Given the description of an element on the screen output the (x, y) to click on. 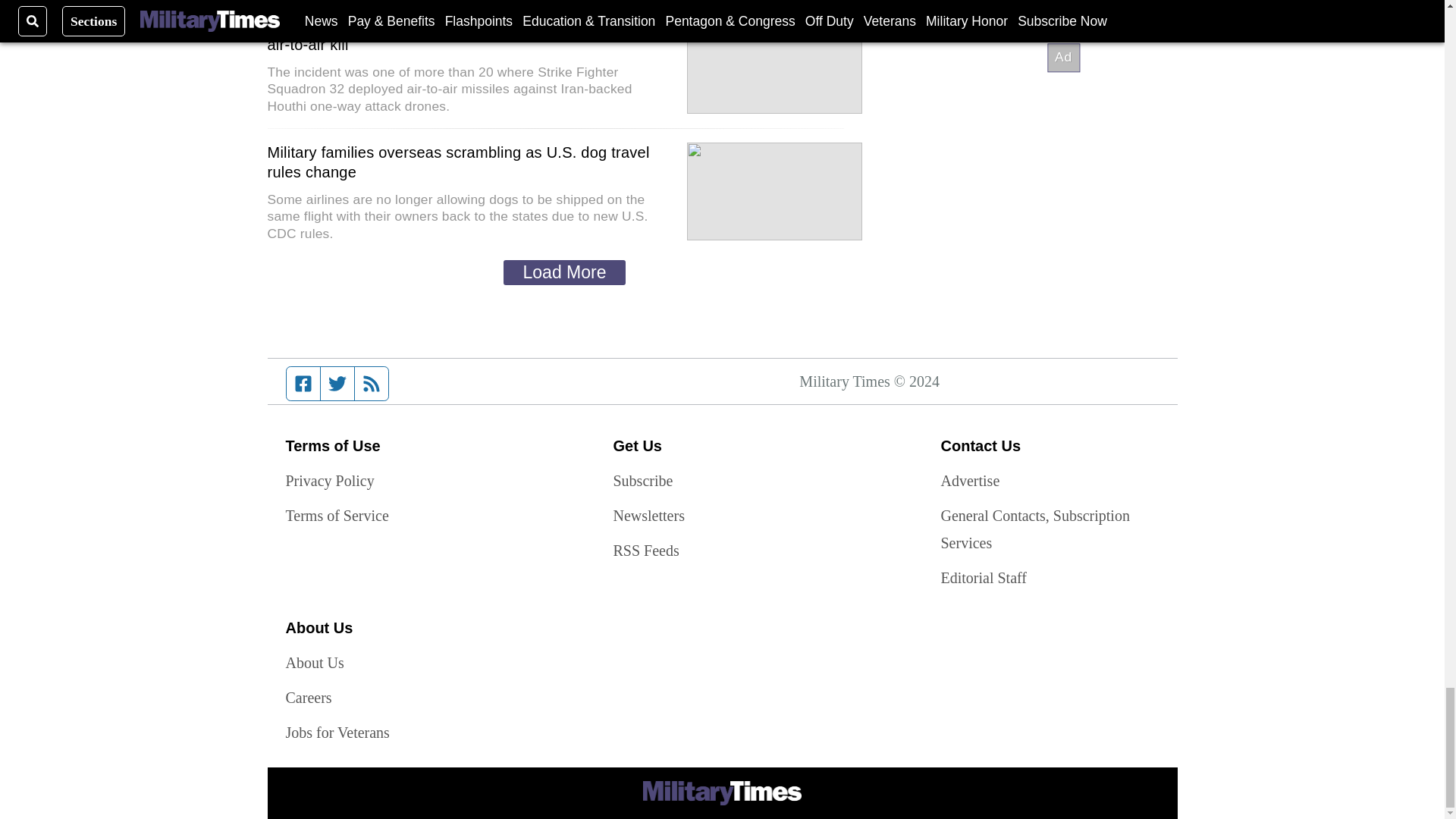
RSS feed (371, 383)
Facebook page (303, 383)
Twitter feed (336, 383)
